Given the description of an element on the screen output the (x, y) to click on. 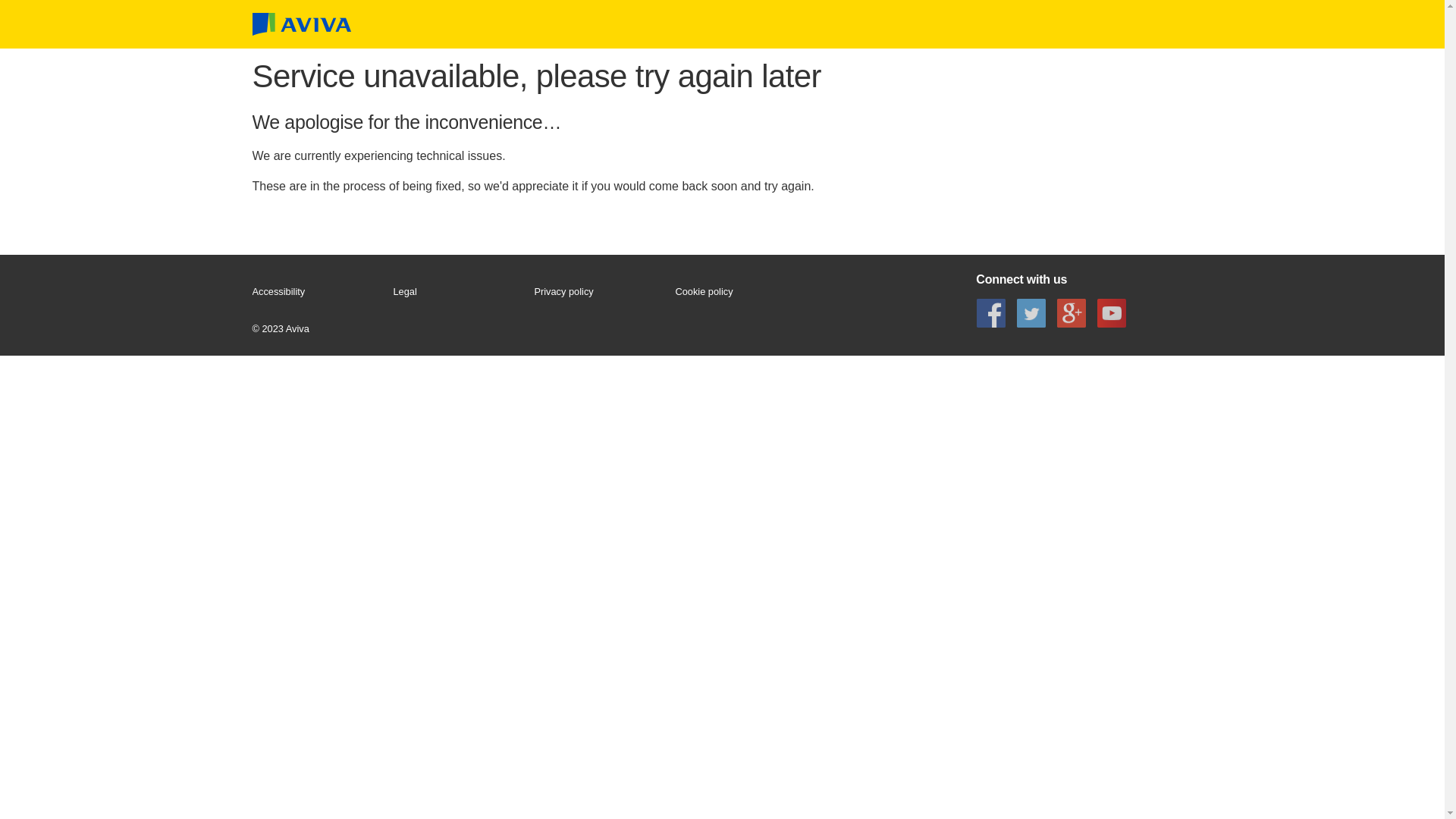
Privacy policy Element type: text (596, 291)
YouTube Element type: text (1111, 312)
Aviva Element type: text (300, 23)
Twitter Element type: text (1030, 312)
Legal Element type: text (455, 291)
Accessibility Element type: text (314, 291)
Facebook Element type: text (989, 312)
Google+ Element type: text (1071, 312)
Cookie policy Element type: text (737, 291)
